Given the description of an element on the screen output the (x, y) to click on. 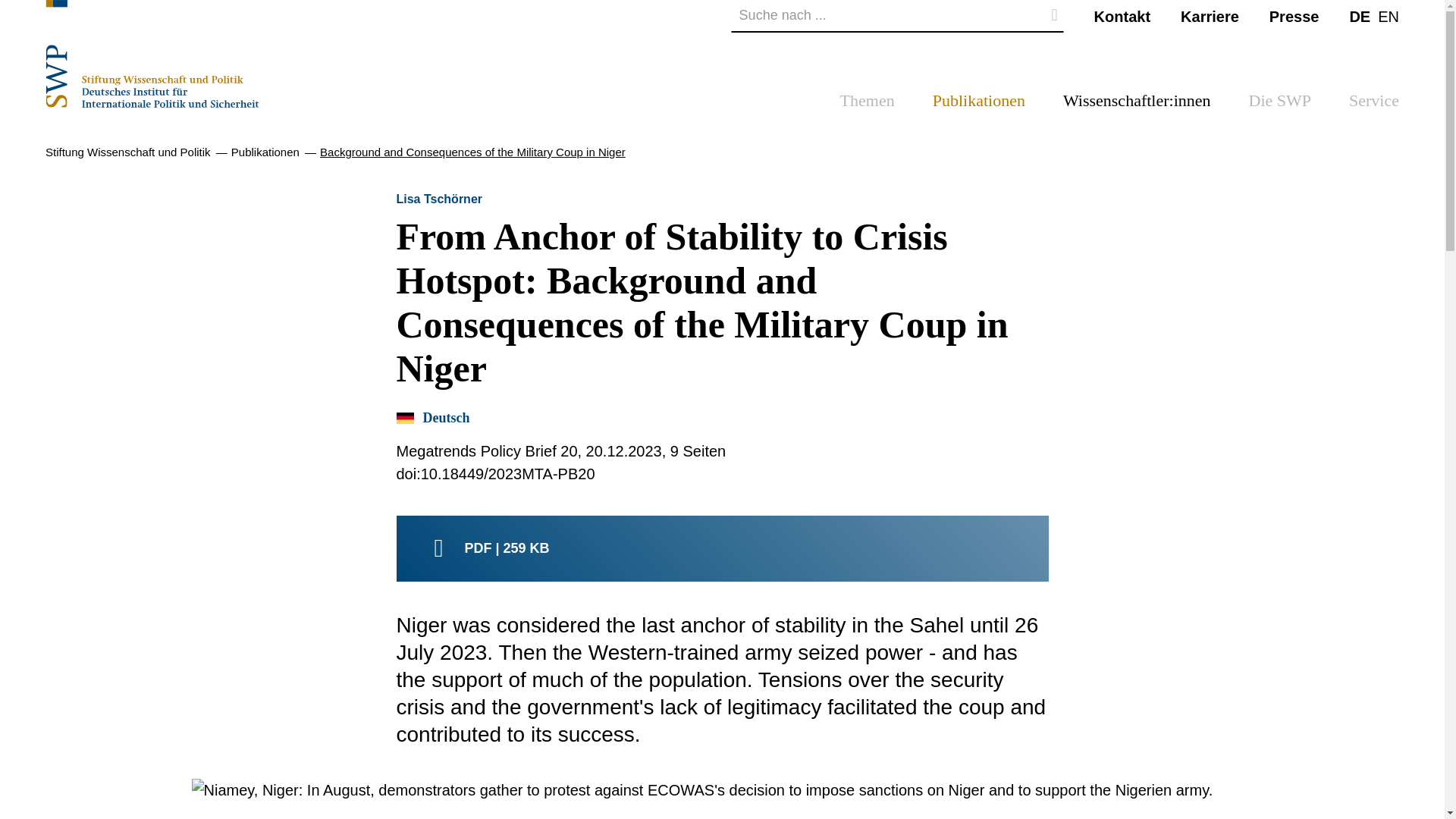
Deutsch (1359, 15)
Karriere (1209, 15)
EN (1388, 15)
englisch (1388, 15)
Kontakt (1122, 15)
PDF-Datei; kann u.a. im Adobe Acrobat Reader gelesen werden (721, 548)
Themen (867, 104)
Presse (1294, 15)
